Given the description of an element on the screen output the (x, y) to click on. 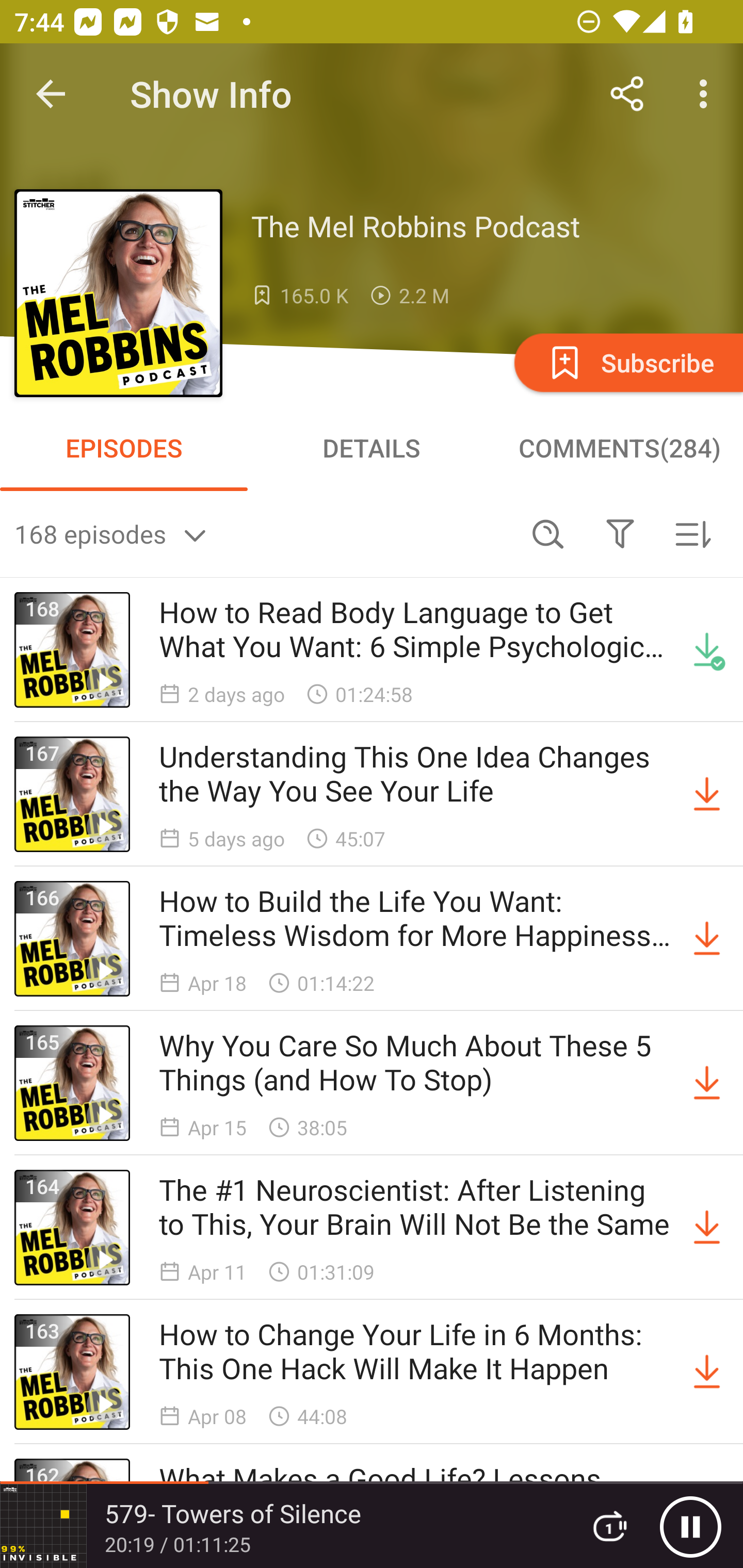
Navigate up (50, 93)
Share (626, 93)
More options (706, 93)
Subscribe (627, 361)
EPISODES (123, 447)
DETAILS (371, 447)
COMMENTS(284) (619, 447)
168 episodes  (262, 533)
 Search (547, 533)
 (619, 533)
 Sorted by newest first (692, 533)
Downloaded (706, 649)
Download (706, 793)
Download (706, 939)
Download (706, 1083)
Download (706, 1227)
Download (706, 1371)
579- Towers of Silence 20:19 / 01:11:25 (283, 1525)
Pause (690, 1526)
